Given the description of an element on the screen output the (x, y) to click on. 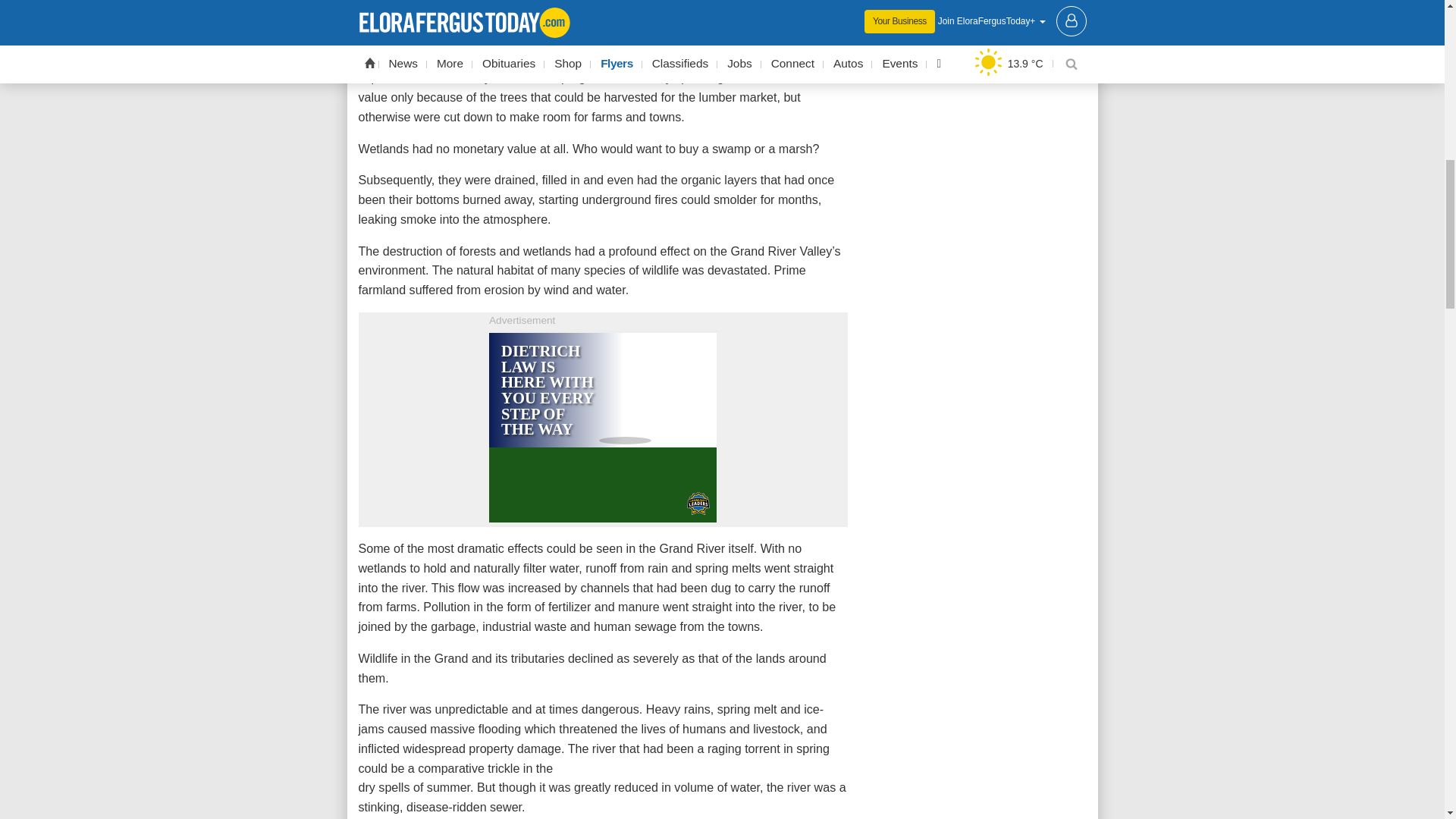
3rd party ad content (602, 427)
